Given the description of an element on the screen output the (x, y) to click on. 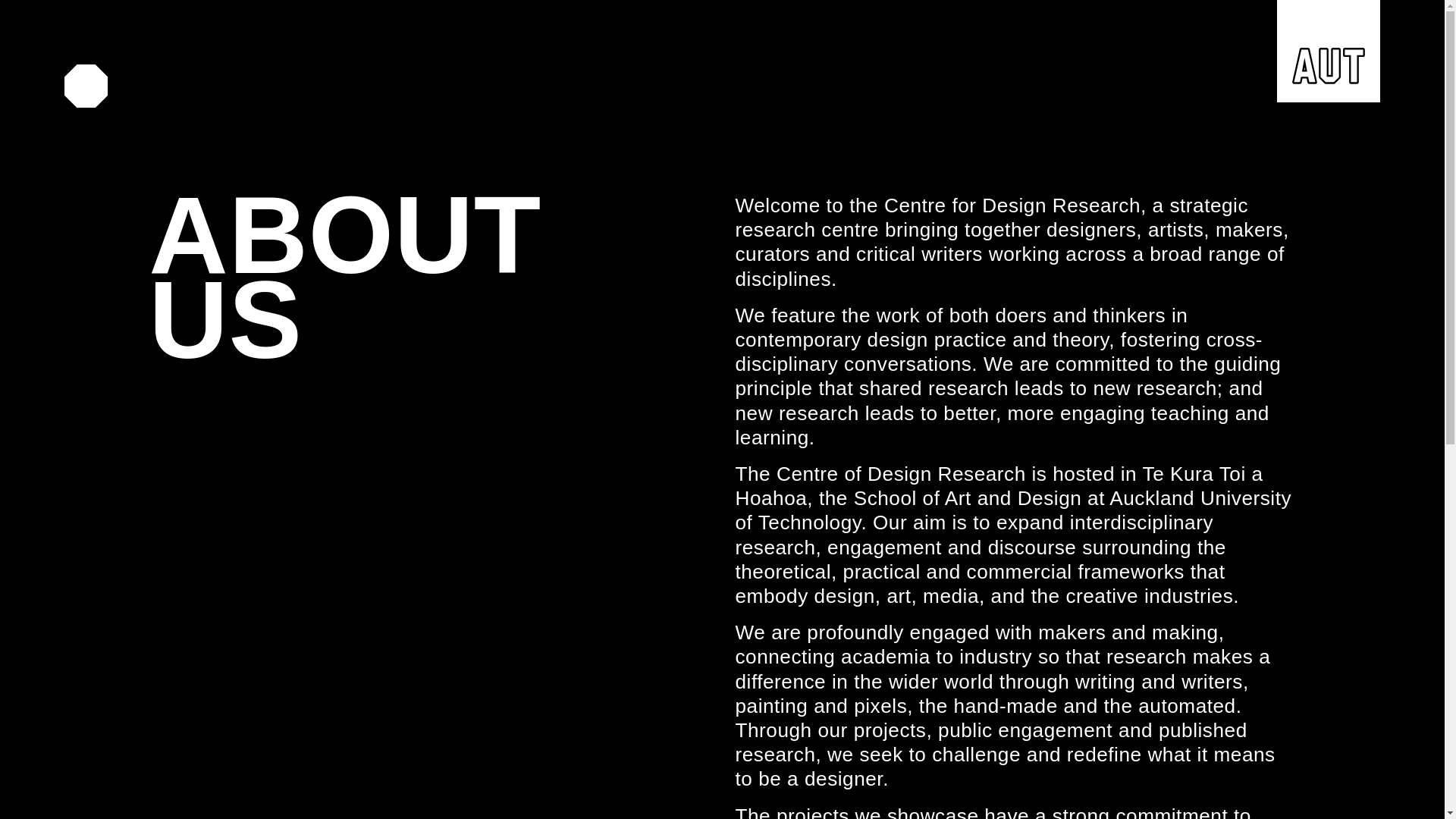
Toggle navigation (85, 88)
